Given the description of an element on the screen output the (x, y) to click on. 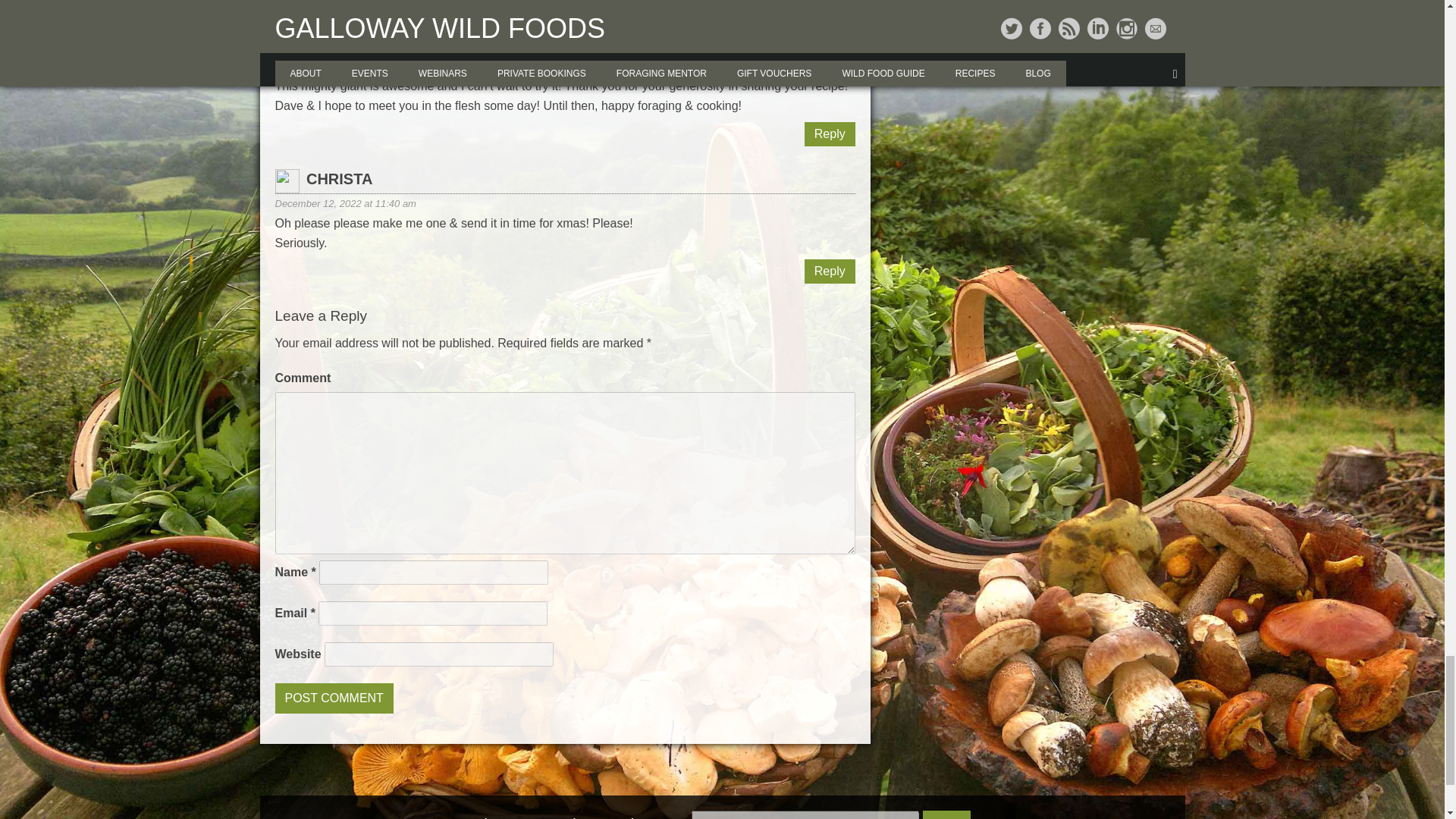
Post Comment (334, 698)
Join (946, 814)
